Given the description of an element on the screen output the (x, y) to click on. 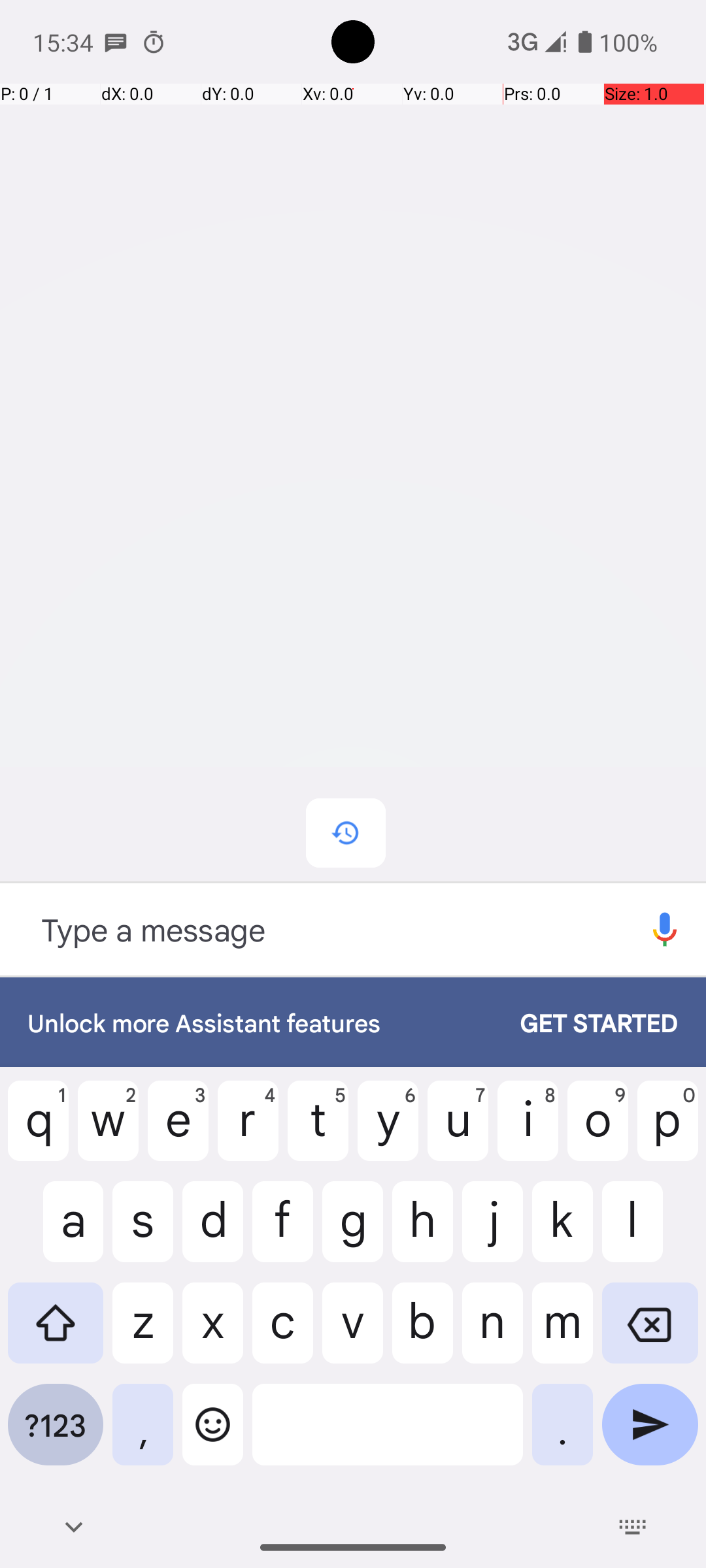
Type a message Element type: android.widget.EditText (311, 929)
Unlock more Assistant features Element type: android.widget.TextView (259, 1021)
GET STARTED Element type: android.widget.TextView (585, 1021)
